Given the description of an element on the screen output the (x, y) to click on. 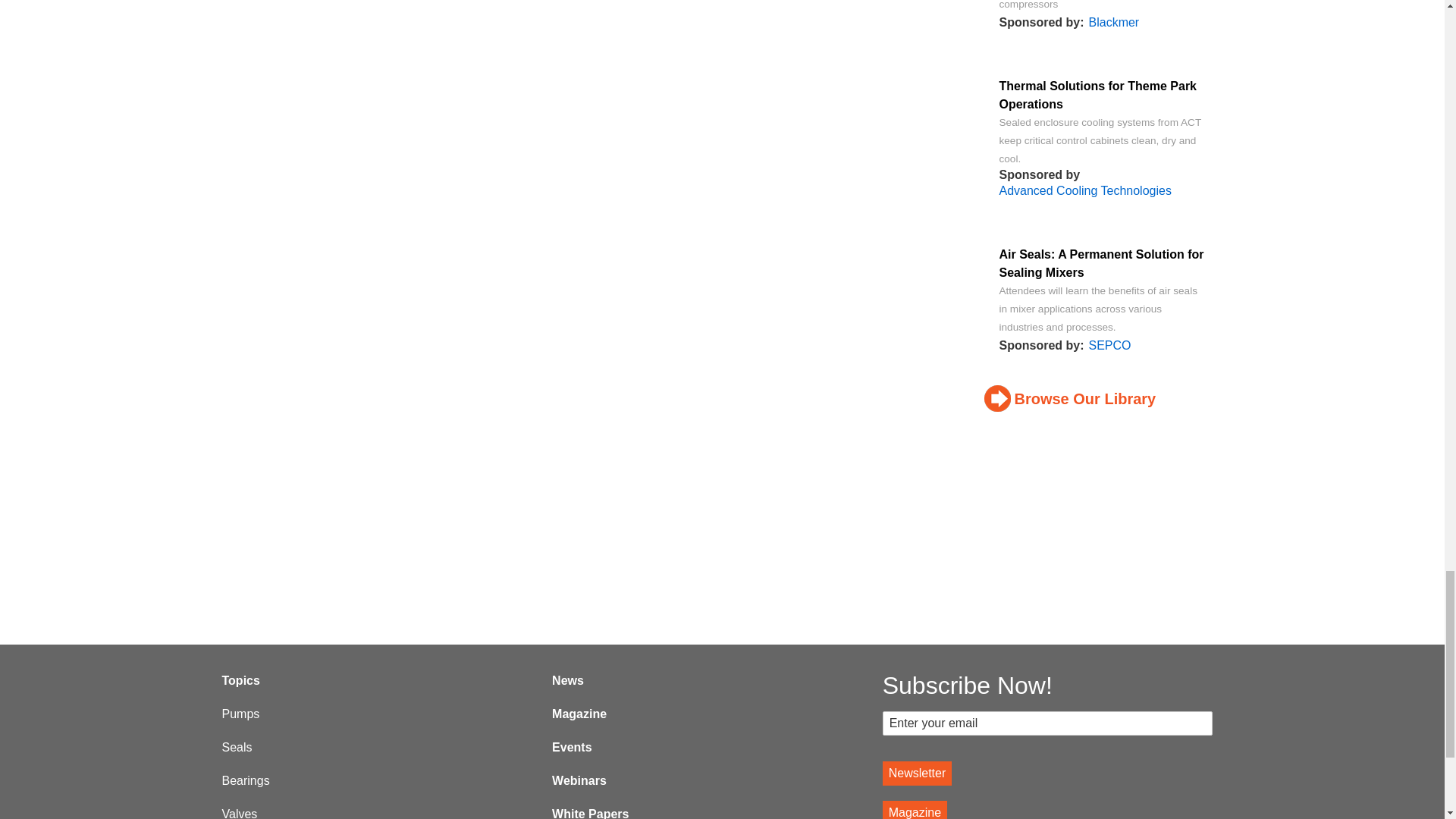
Newsletter (917, 773)
Magazine (914, 809)
